Given the description of an element on the screen output the (x, y) to click on. 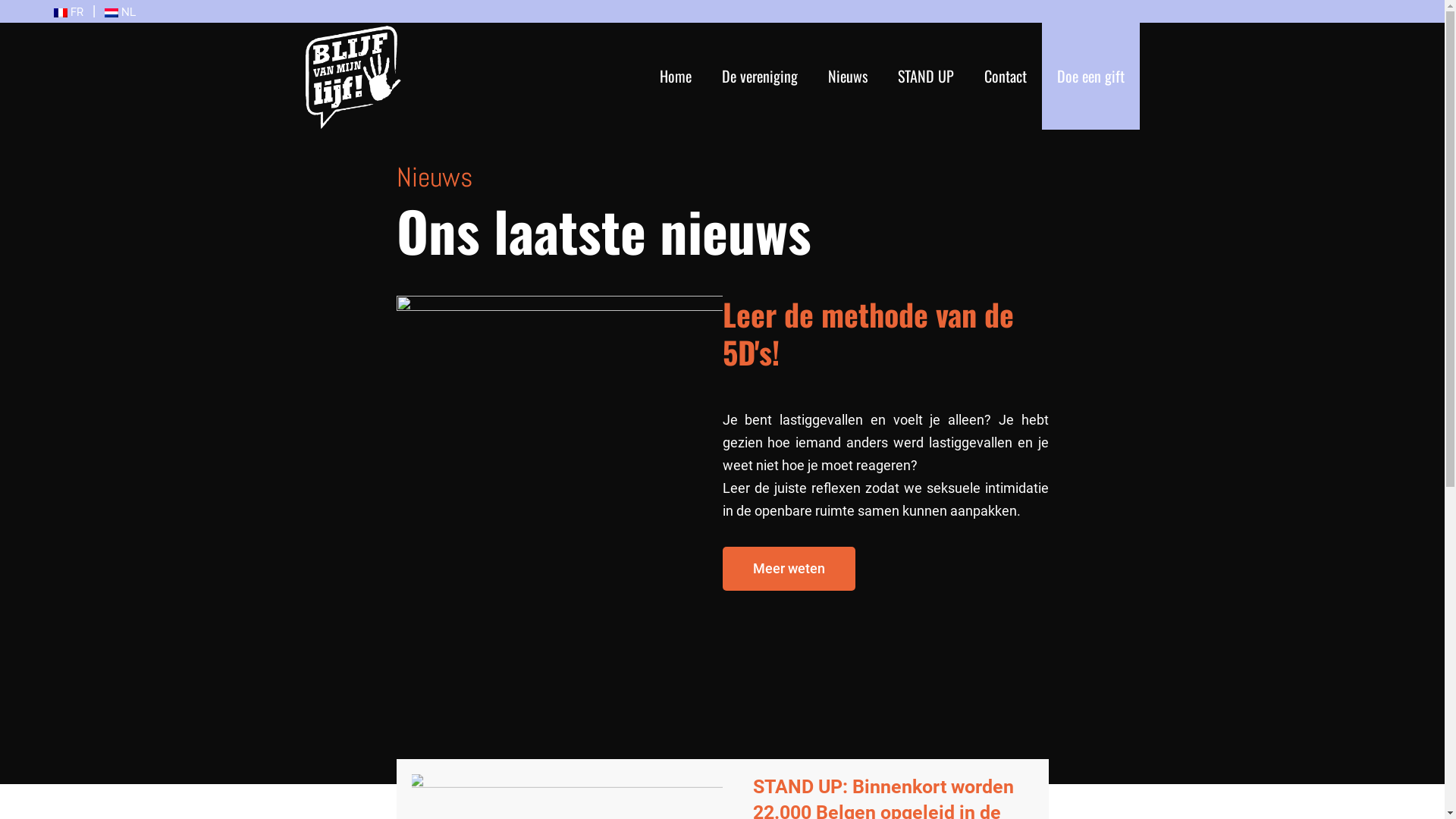
De vereniging Element type: text (759, 75)
STAND UP Element type: text (925, 75)
Meer weten Element type: text (787, 567)
FR Element type: text (68, 11)
NL Element type: text (120, 11)
Nieuws Element type: text (847, 75)
Contact Element type: text (1005, 75)
Home Element type: text (675, 75)
Doe een gift Element type: text (1090, 75)
